Given the description of an element on the screen output the (x, y) to click on. 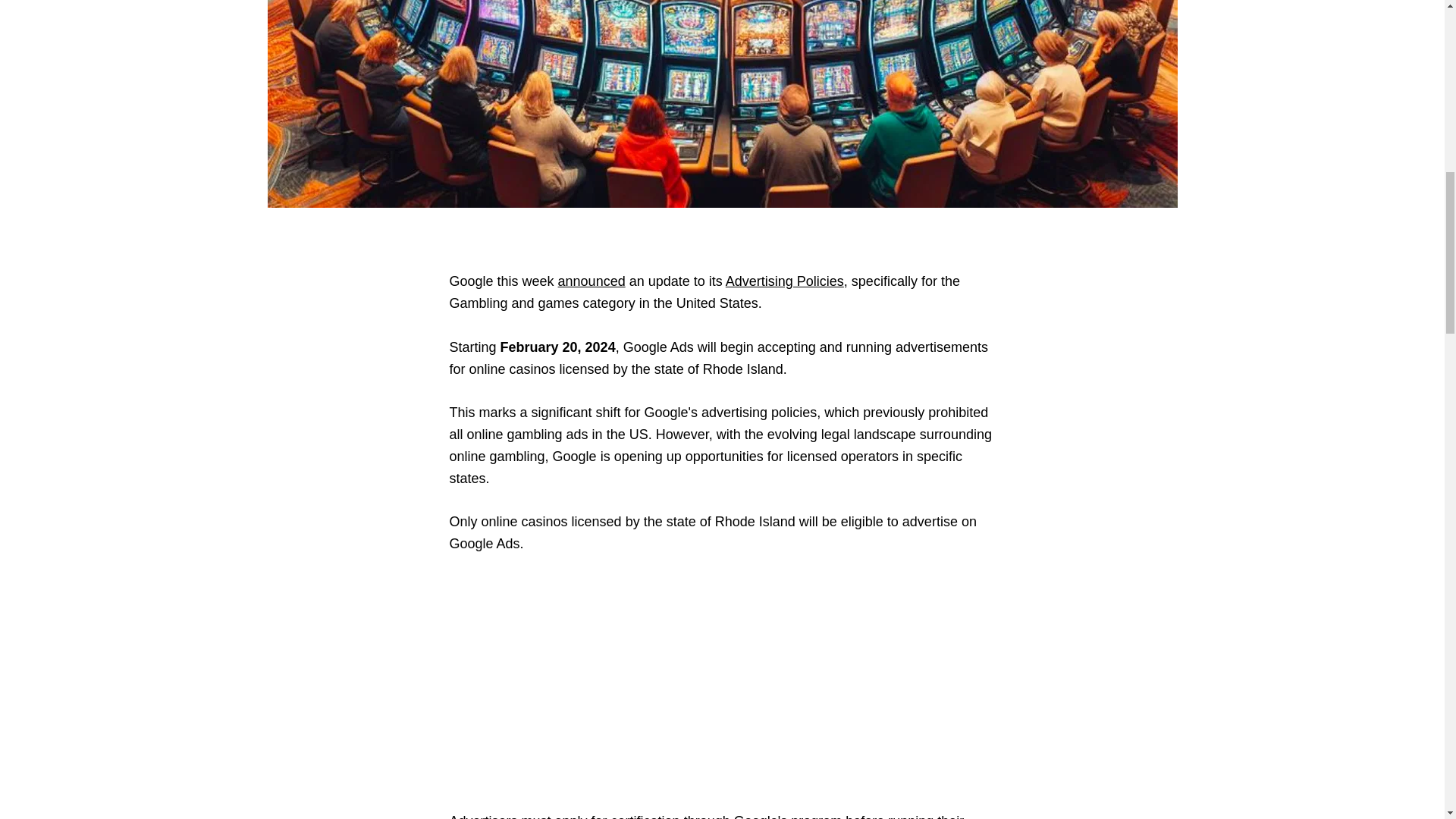
Advertising Policies (784, 281)
Advertisement (721, 683)
announced (591, 281)
certification (645, 816)
